Given the description of an element on the screen output the (x, y) to click on. 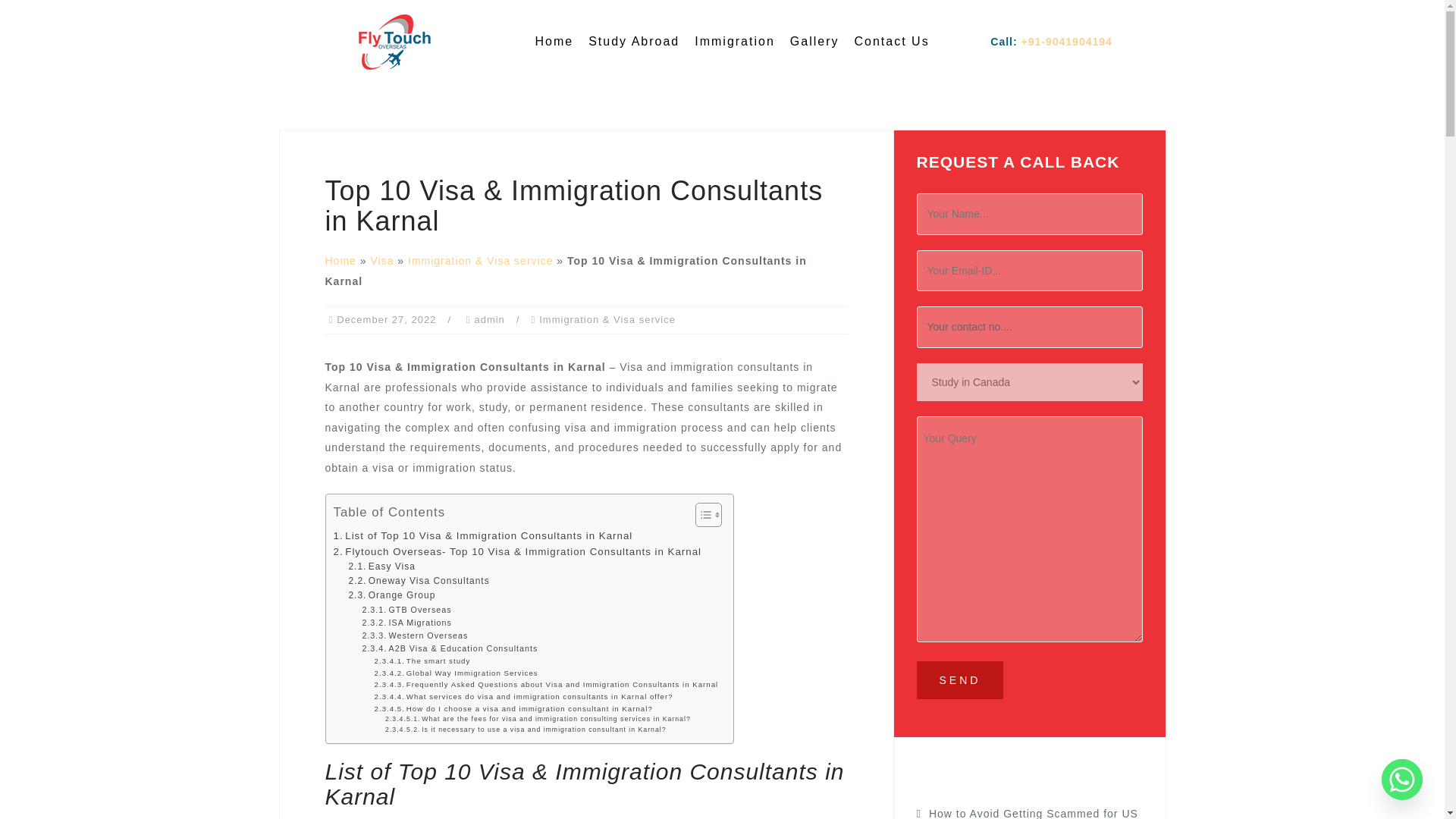
December 27, 2022 (385, 319)
Home (339, 260)
How do I choose a visa and immigration consultant in Karnal? (513, 708)
How do I choose a visa and immigration consultant in Karnal? (513, 708)
The smart study (422, 661)
Orange Group (391, 595)
Visa (381, 260)
Easy Visa (380, 566)
